Given the description of an element on the screen output the (x, y) to click on. 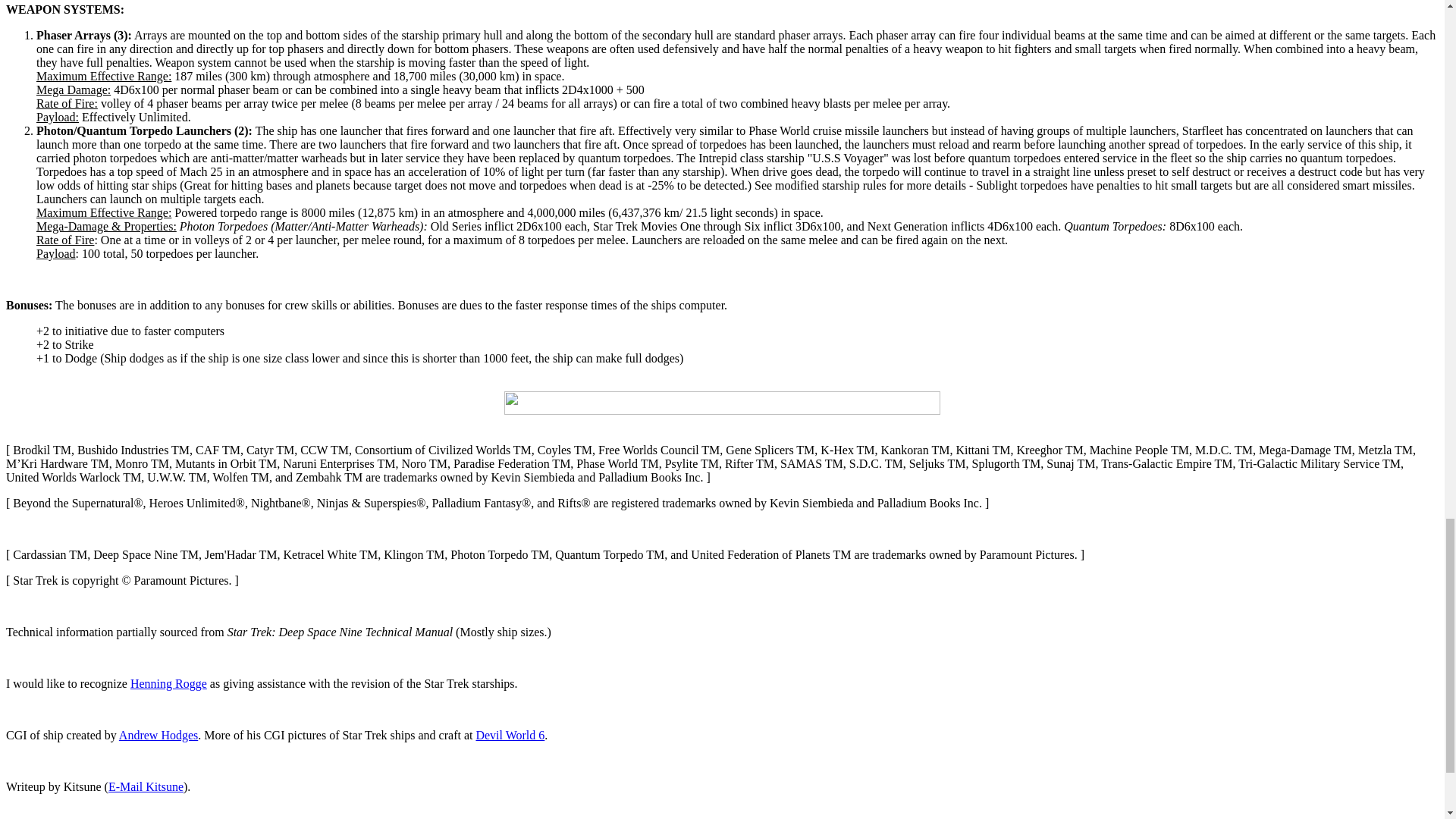
E-Mail Kitsune (145, 786)
Devil World 6 (510, 735)
Andrew Hodges (158, 735)
Henning Rogge (168, 683)
